Given the description of an element on the screen output the (x, y) to click on. 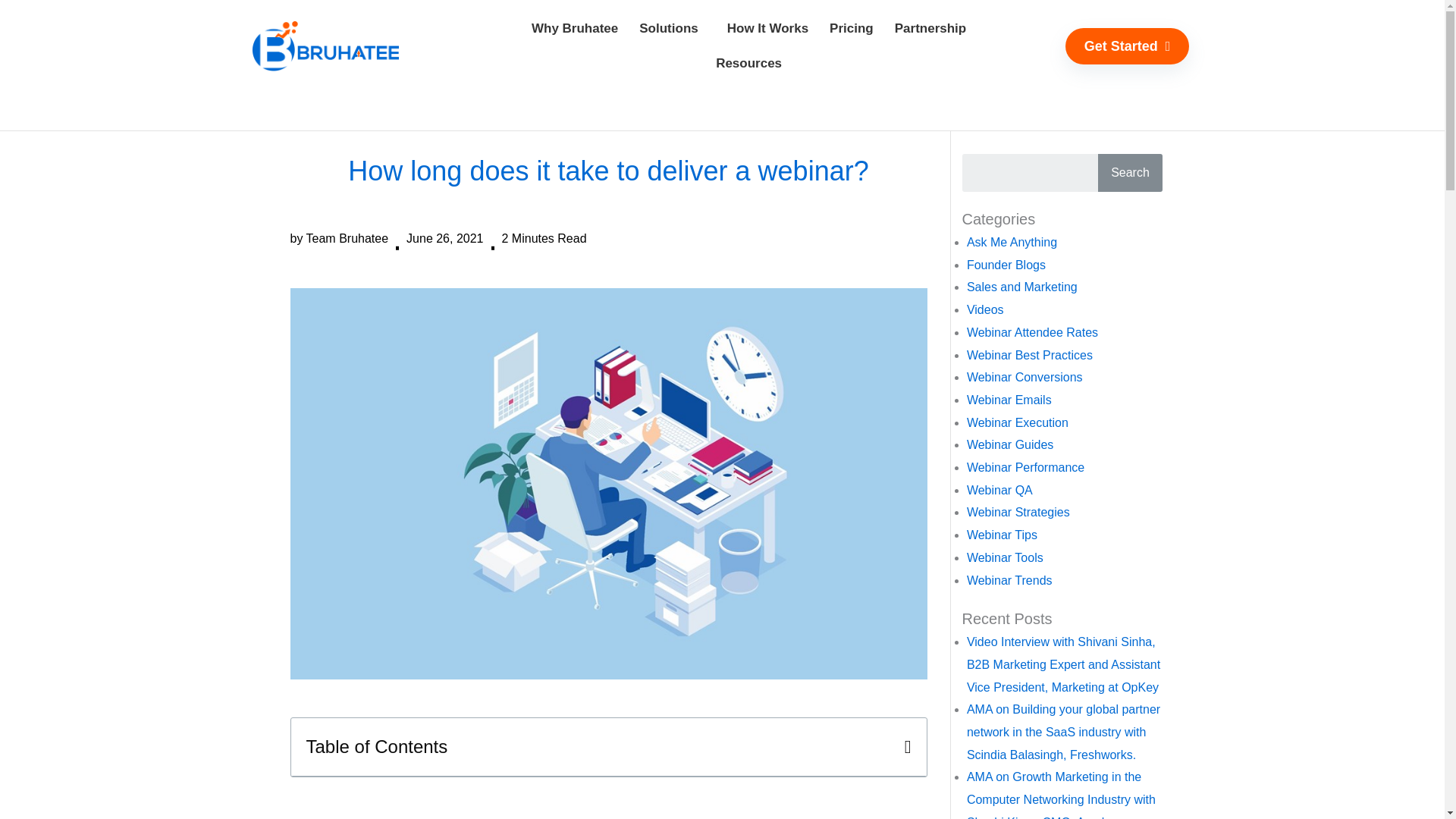
How It Works (767, 28)
Ask Me Anything (1011, 241)
Partnership (929, 28)
Sales and Marketing (1021, 286)
Search (1129, 172)
June 26, 2021 (444, 238)
Solutions (672, 28)
Get Started (1127, 45)
Why Bruhatee (574, 28)
Founder Blogs (1005, 264)
Search (1129, 172)
Pricing (850, 28)
Webinar Attendee Rates (1031, 332)
by Team Bruhatee (338, 238)
Resources (748, 63)
